Given the description of an element on the screen output the (x, y) to click on. 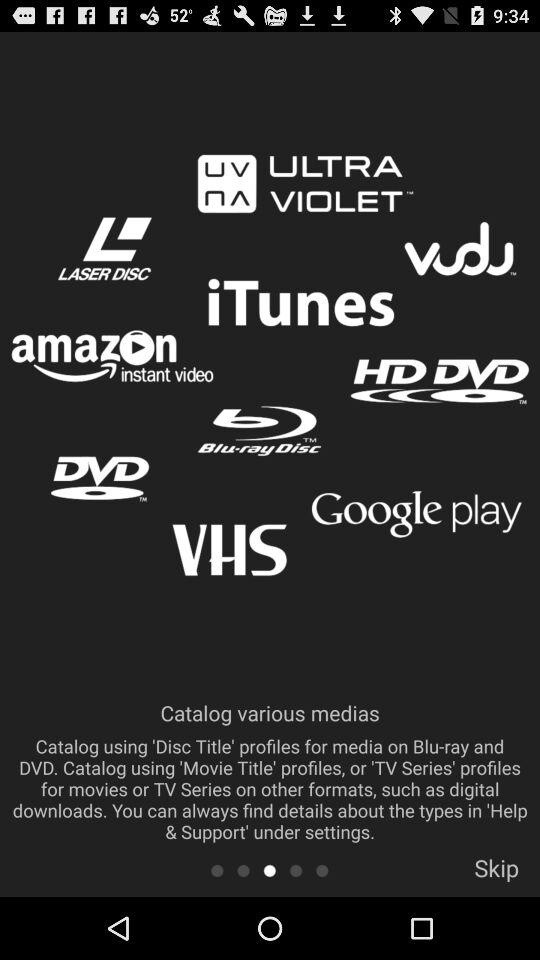
turn on item below the catalog various medias icon (496, 873)
